Given the description of an element on the screen output the (x, y) to click on. 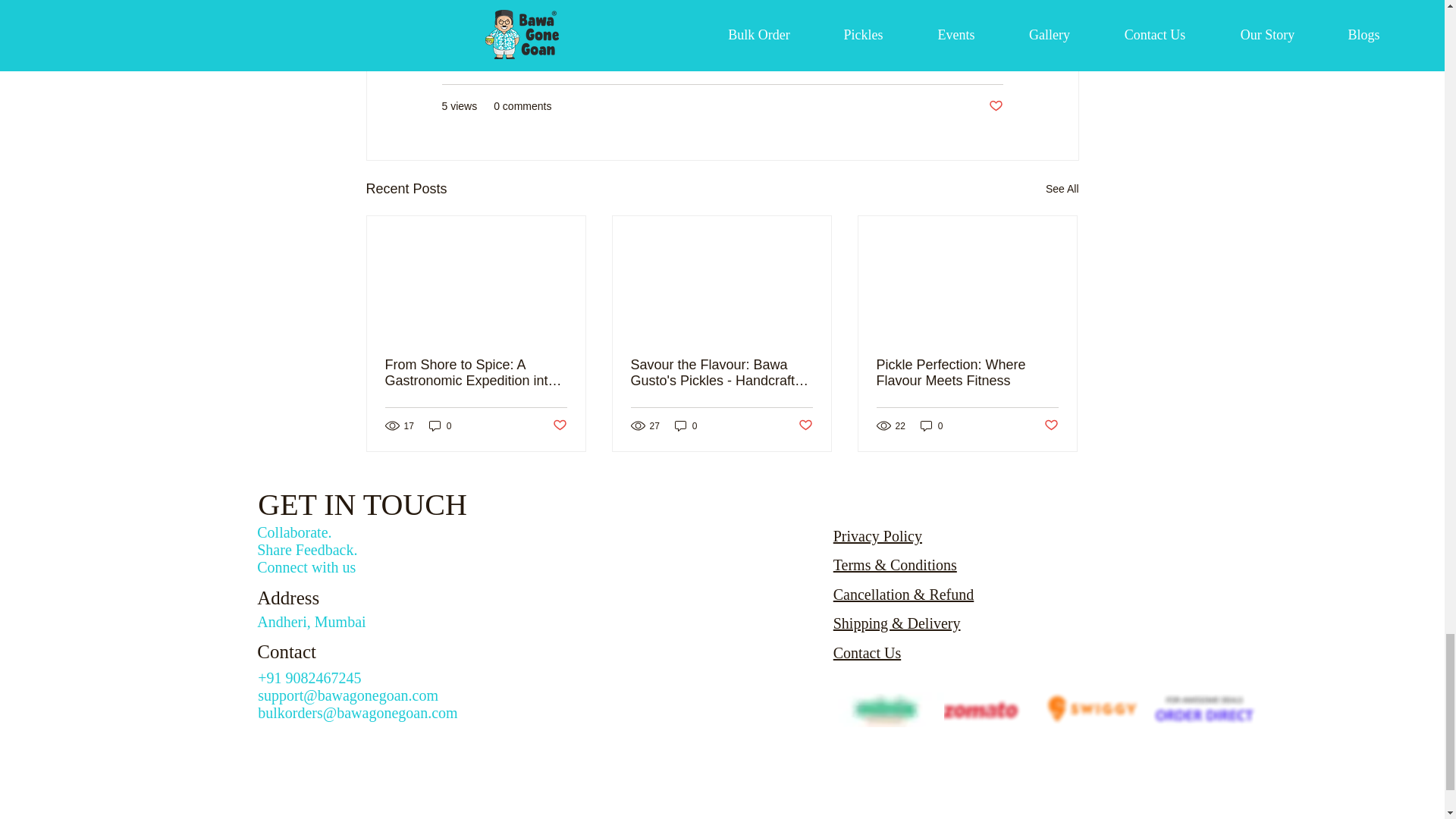
0 (440, 425)
0 (685, 425)
Contact Us (866, 652)
Post not marked as liked (1050, 425)
Post not marked as liked (995, 106)
Privacy Policy (876, 535)
0 (931, 425)
Post not marked as liked (558, 425)
